Given the description of an element on the screen output the (x, y) to click on. 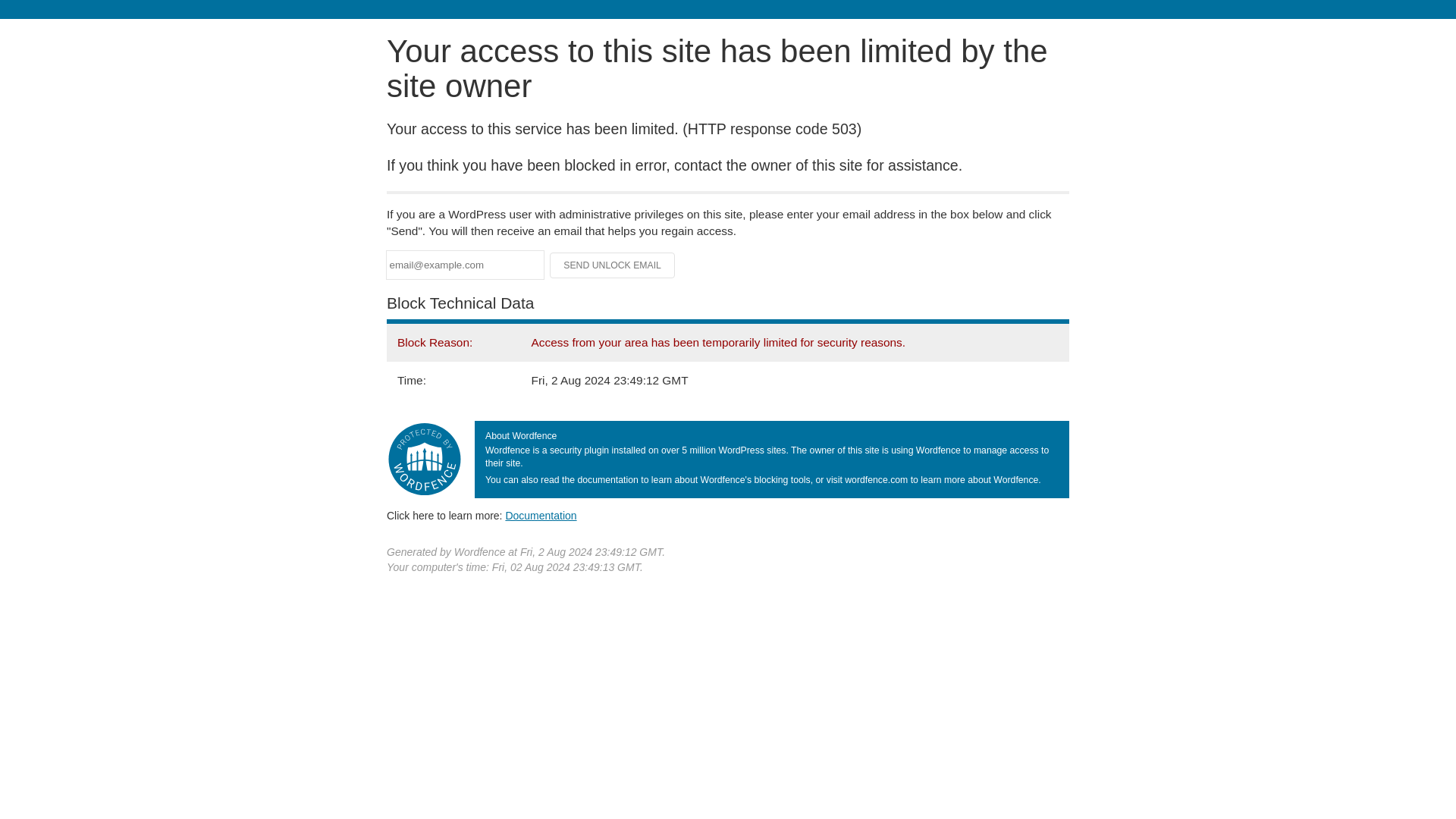
Documentation (540, 515)
Send Unlock Email (612, 265)
Send Unlock Email (612, 265)
